Given the description of an element on the screen output the (x, y) to click on. 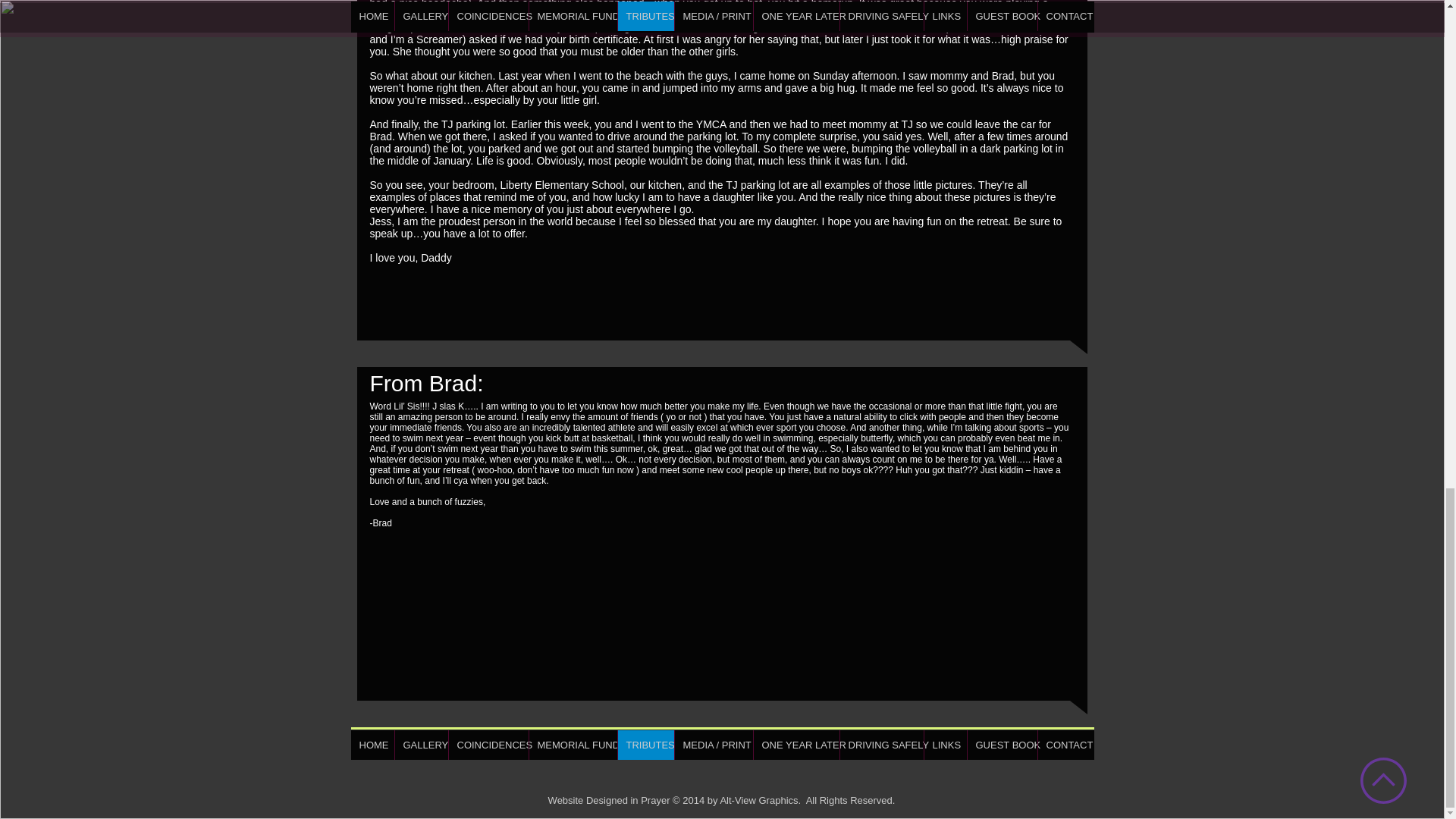
GALLERY (421, 745)
TRIBUTES (645, 745)
MEMORIAL FUND (571, 745)
COINCIDENCES (486, 745)
HOME (371, 745)
